Given the description of an element on the screen output the (x, y) to click on. 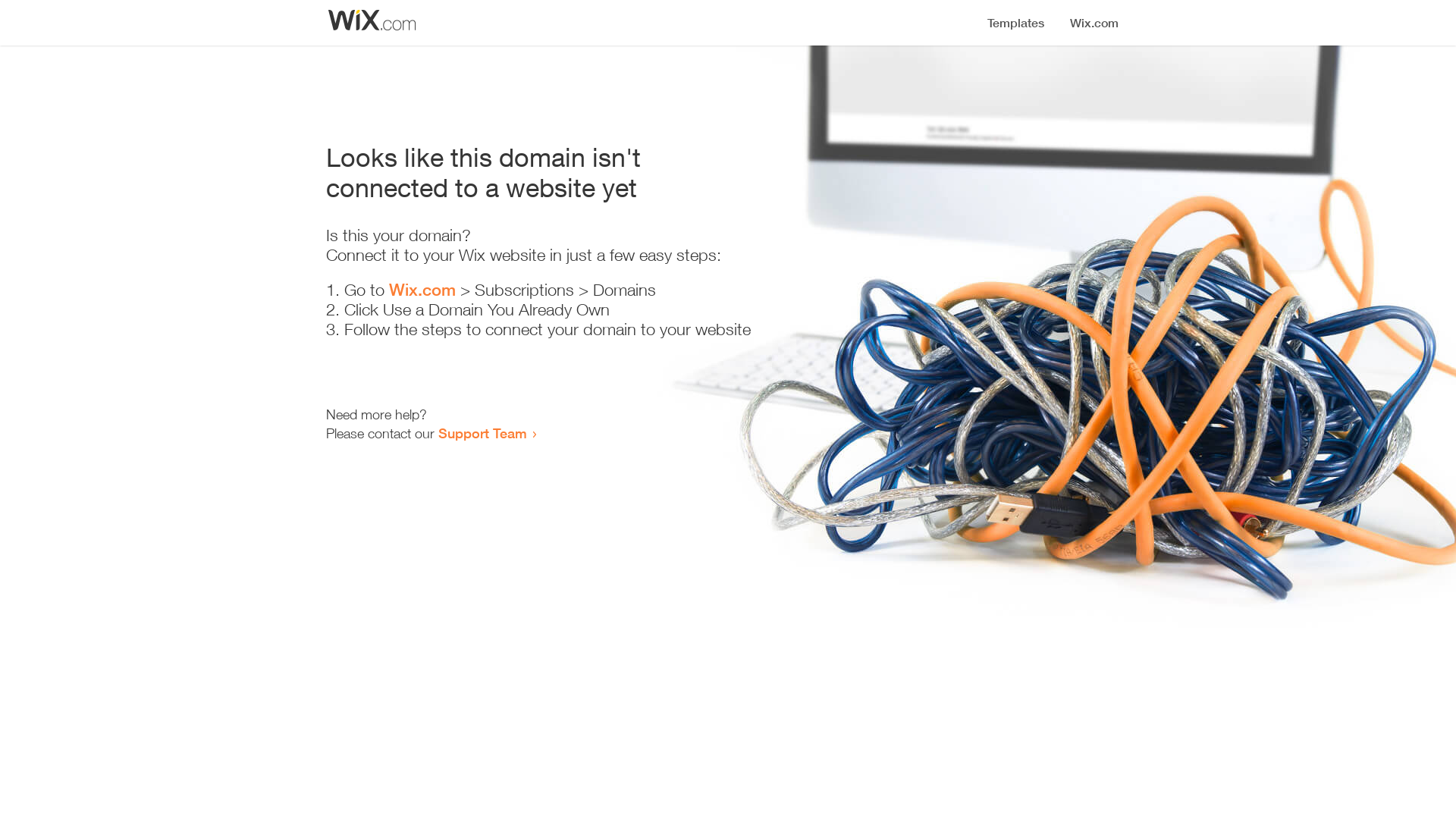
Wix.com Element type: text (422, 289)
Support Team Element type: text (482, 432)
